Given the description of an element on the screen output the (x, y) to click on. 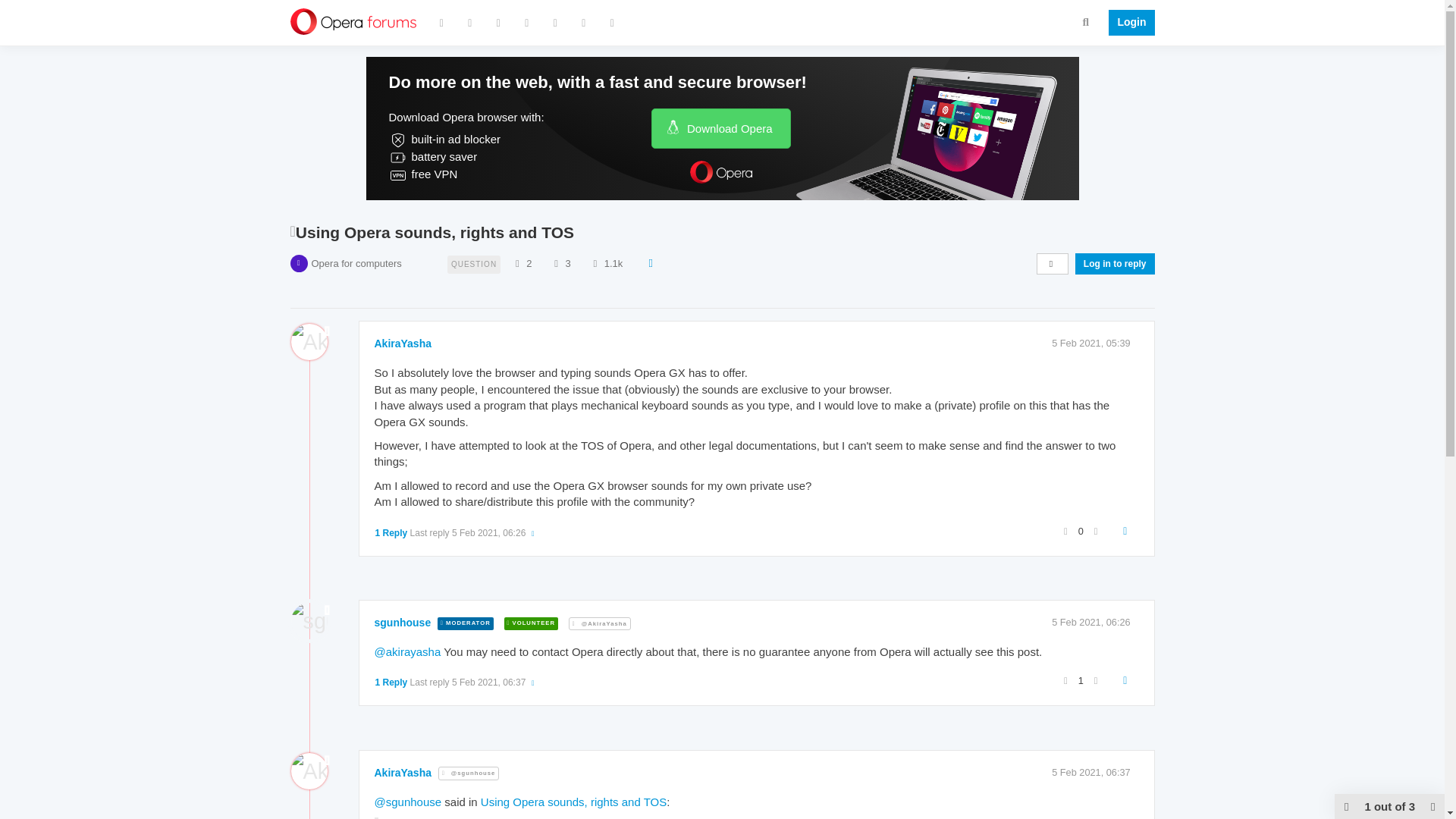
Download Opera (720, 128)
Log in to reply (1114, 263)
Opera for computers (356, 263)
QUESTION (473, 262)
Login (1127, 22)
AkiraYasha (403, 343)
Search (1085, 21)
